Given the description of an element on the screen output the (x, y) to click on. 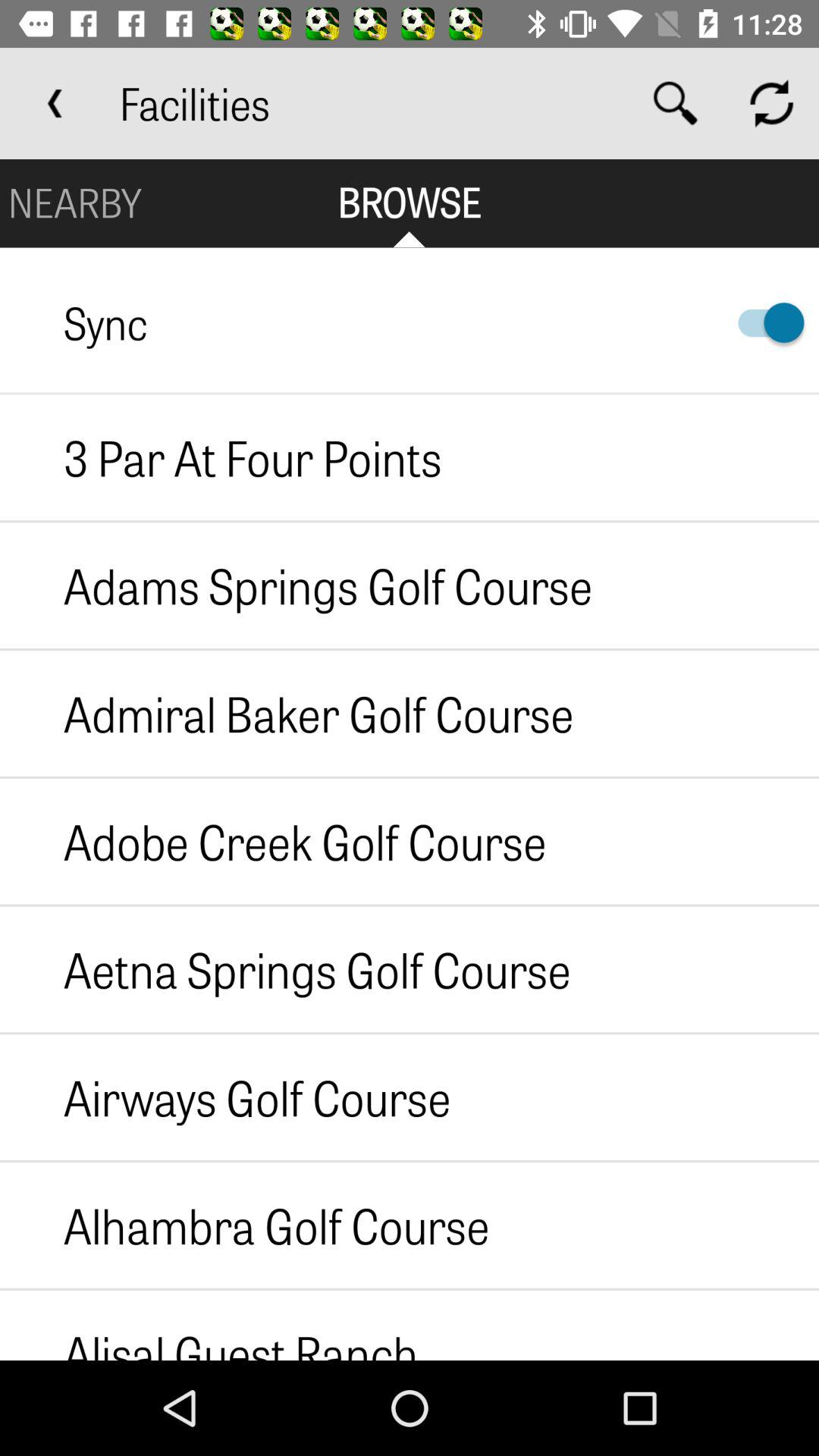
launch adobe creek golf item (273, 841)
